Given the description of an element on the screen output the (x, y) to click on. 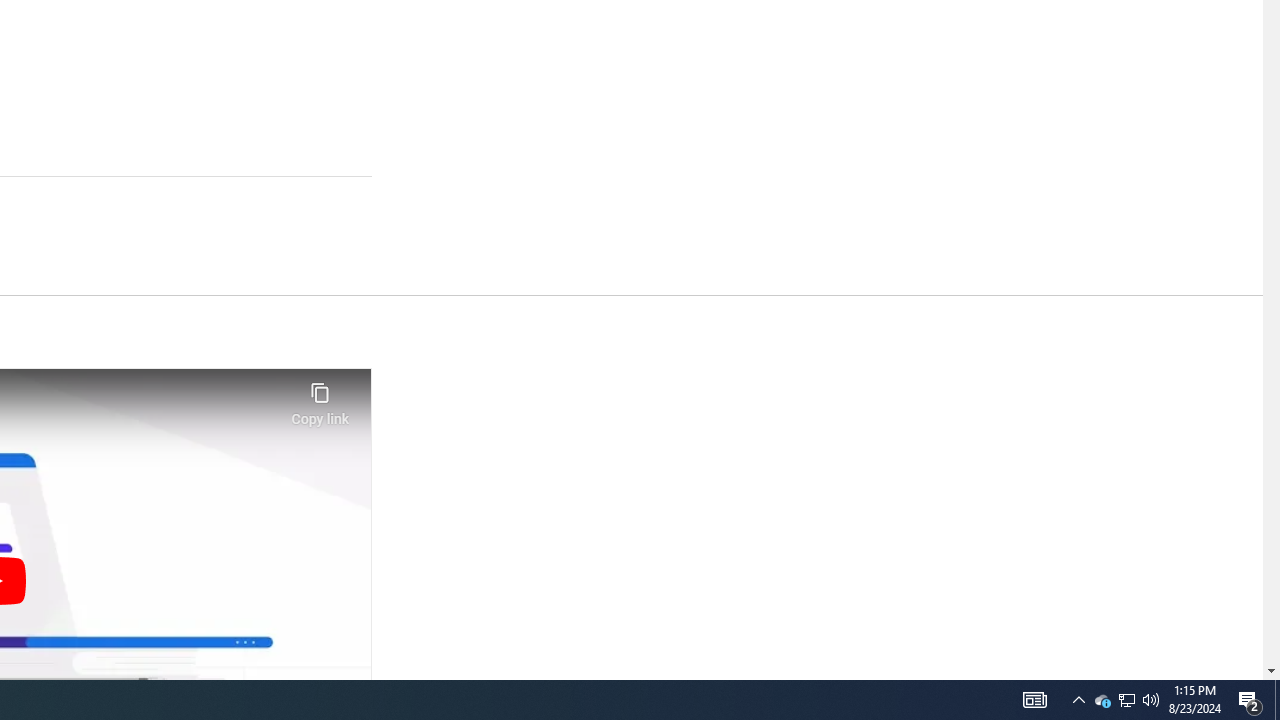
Copy link (319, 398)
